Given the description of an element on the screen output the (x, y) to click on. 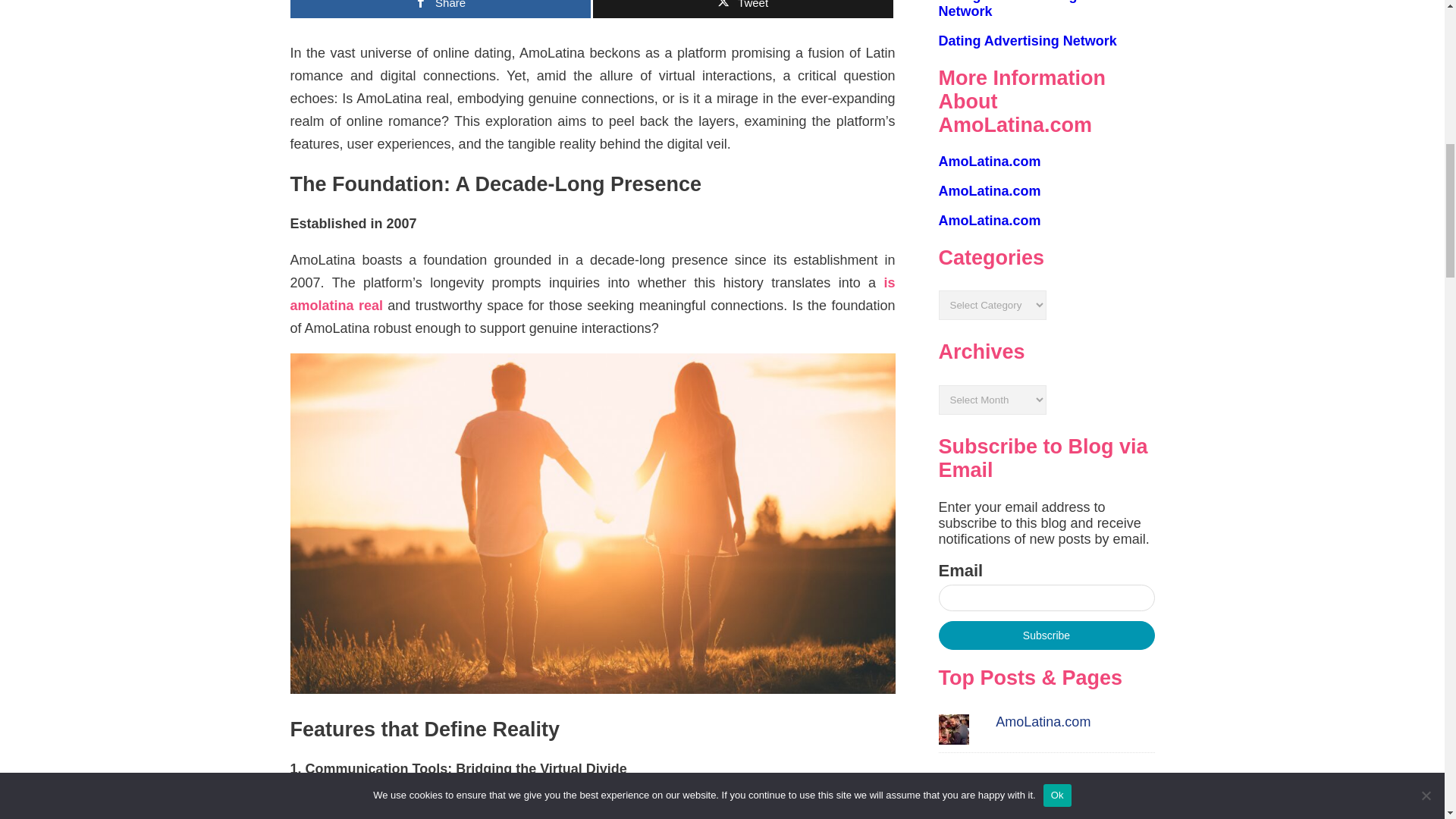
Tweet (742, 9)
AmoLatina.com (990, 191)
Subscribe (1046, 635)
Share (439, 9)
AmoLatina.com (990, 160)
Subscribe (1046, 635)
Dating Guest Posting Sites Network (1026, 9)
AmoLatina.com (990, 220)
is amolatina real (592, 293)
AmoLatina.com (1042, 721)
Dating Advertising Network (1027, 40)
